Given the description of an element on the screen output the (x, y) to click on. 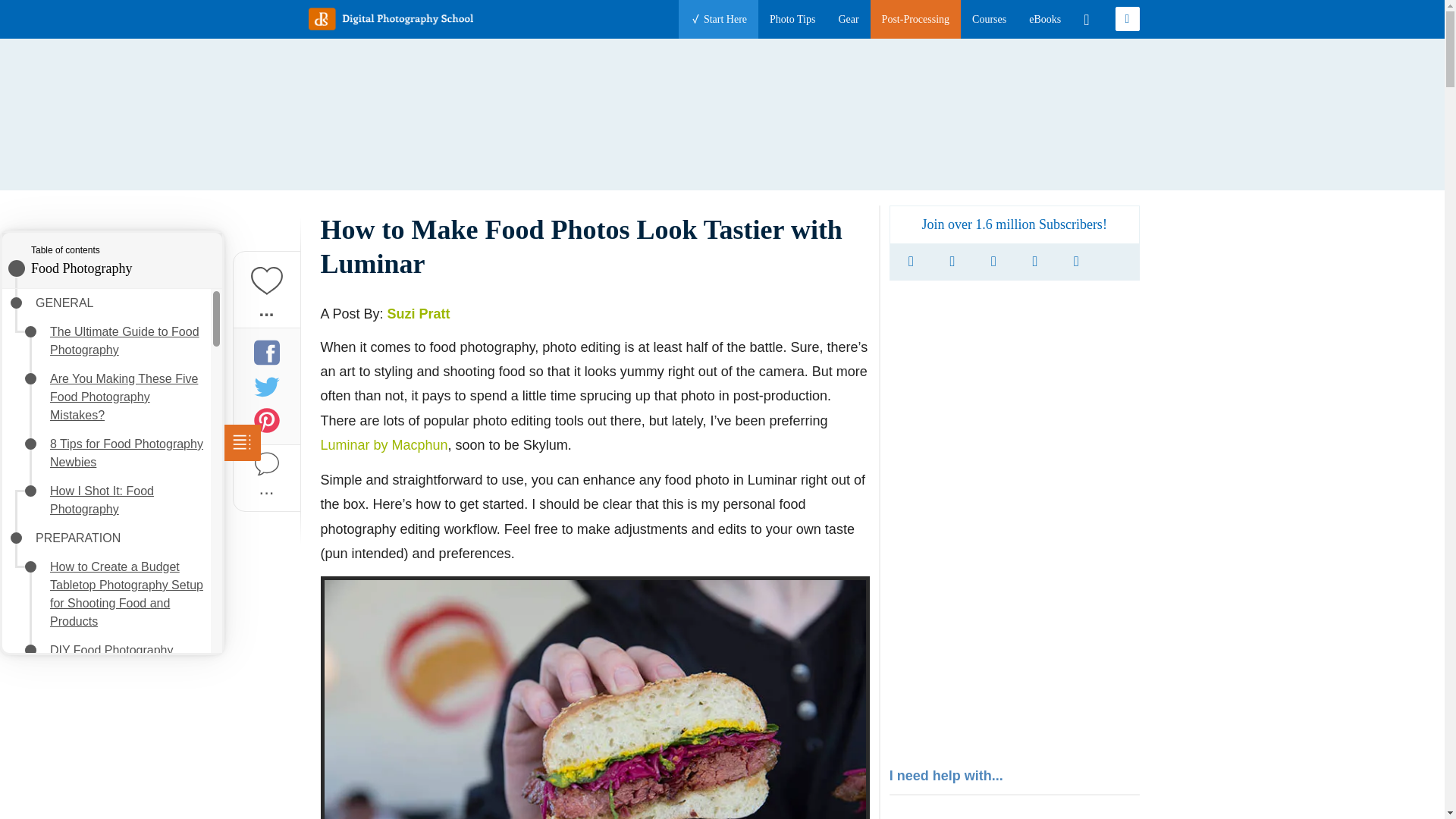
Digital Photography School (390, 18)
Click to share on Facebook (266, 352)
Click to share on Twitter (266, 385)
Photo Tips (791, 19)
Post-Processing (915, 19)
Gear (847, 19)
Click to share on Pinterest (266, 420)
